Given the description of an element on the screen output the (x, y) to click on. 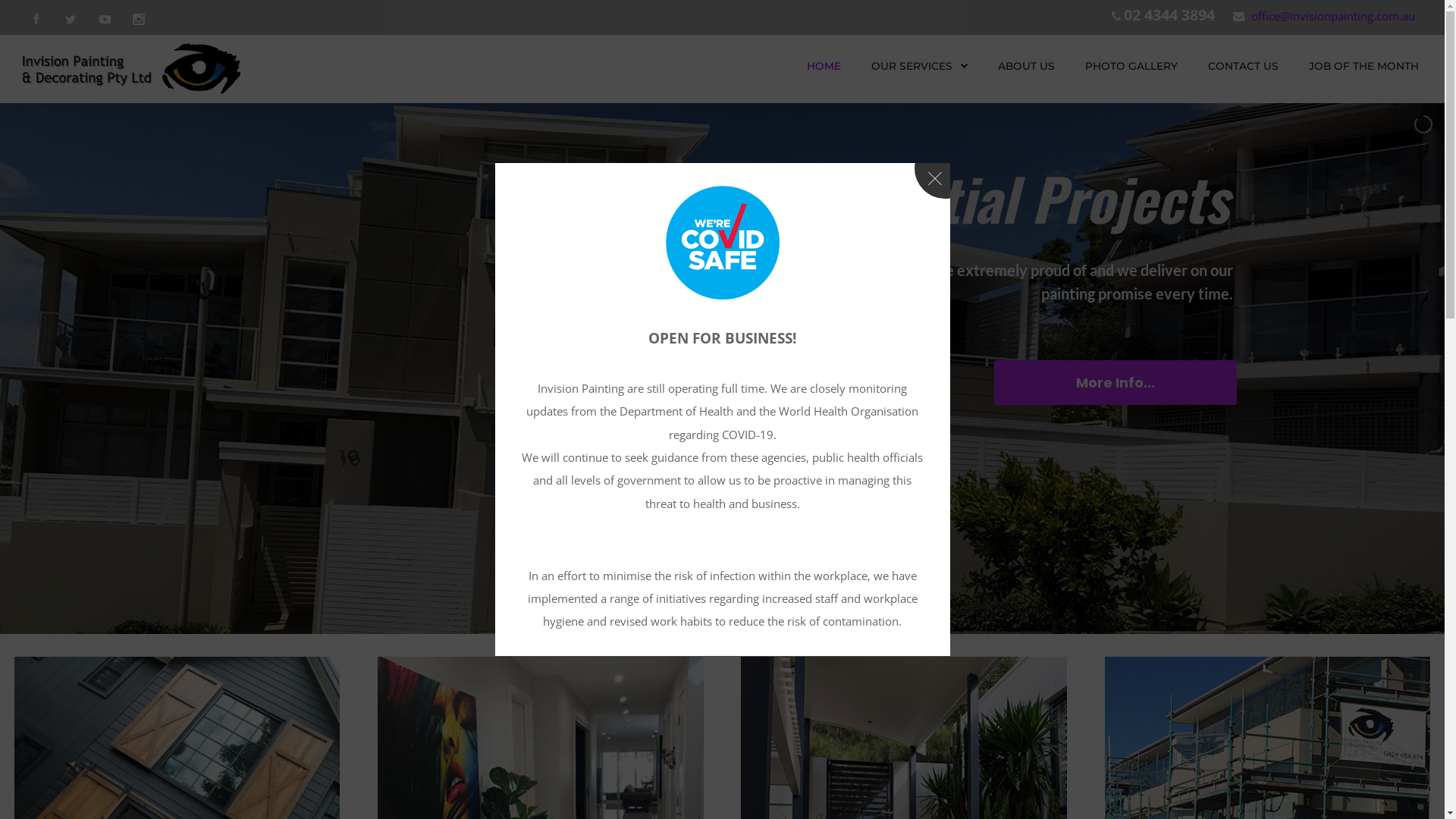
ABOUT US Element type: text (1025, 65)
OUR SERVICES Element type: text (919, 65)
PHOTO GALLERY Element type: text (1131, 65)
JOB OF THE MONTH Element type: text (1363, 65)
ABOUT US Element type: text (1025, 65)
CONTACT US Element type: text (1243, 65)
office@invisionpainting.com.au Element type: text (1333, 15)
HOME Element type: text (823, 65)
CONTACT US Element type: text (1243, 65)
HOME Element type: text (823, 65)
02 4344 3894 Element type: text (1168, 14)
PHOTO GALLERY Element type: text (1131, 65)
OUR SERVICES Element type: text (911, 65)
JOB OF THE MONTH Element type: text (1363, 65)
